Given the description of an element on the screen output the (x, y) to click on. 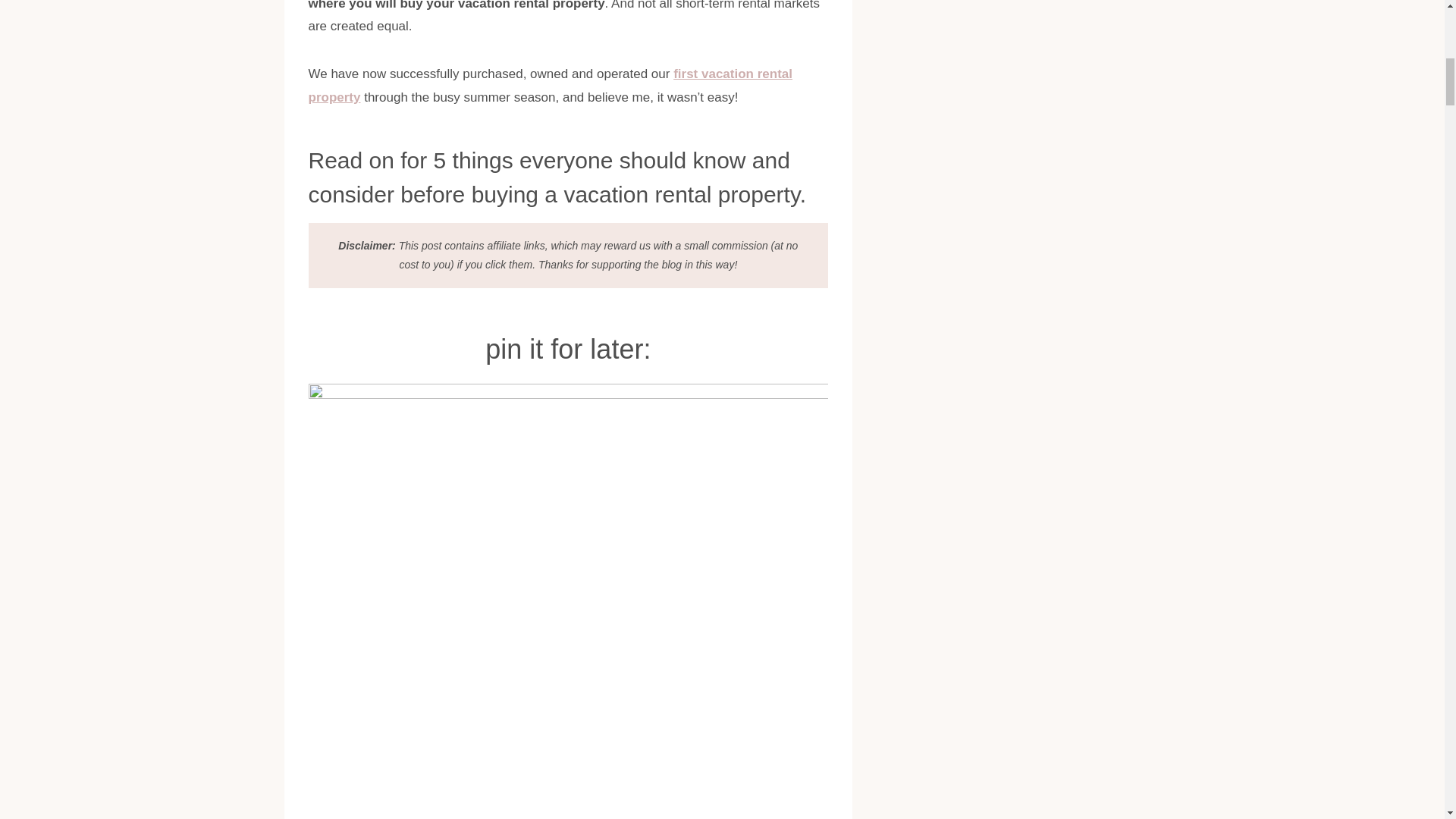
first vacation rental property (549, 85)
